Given the description of an element on the screen output the (x, y) to click on. 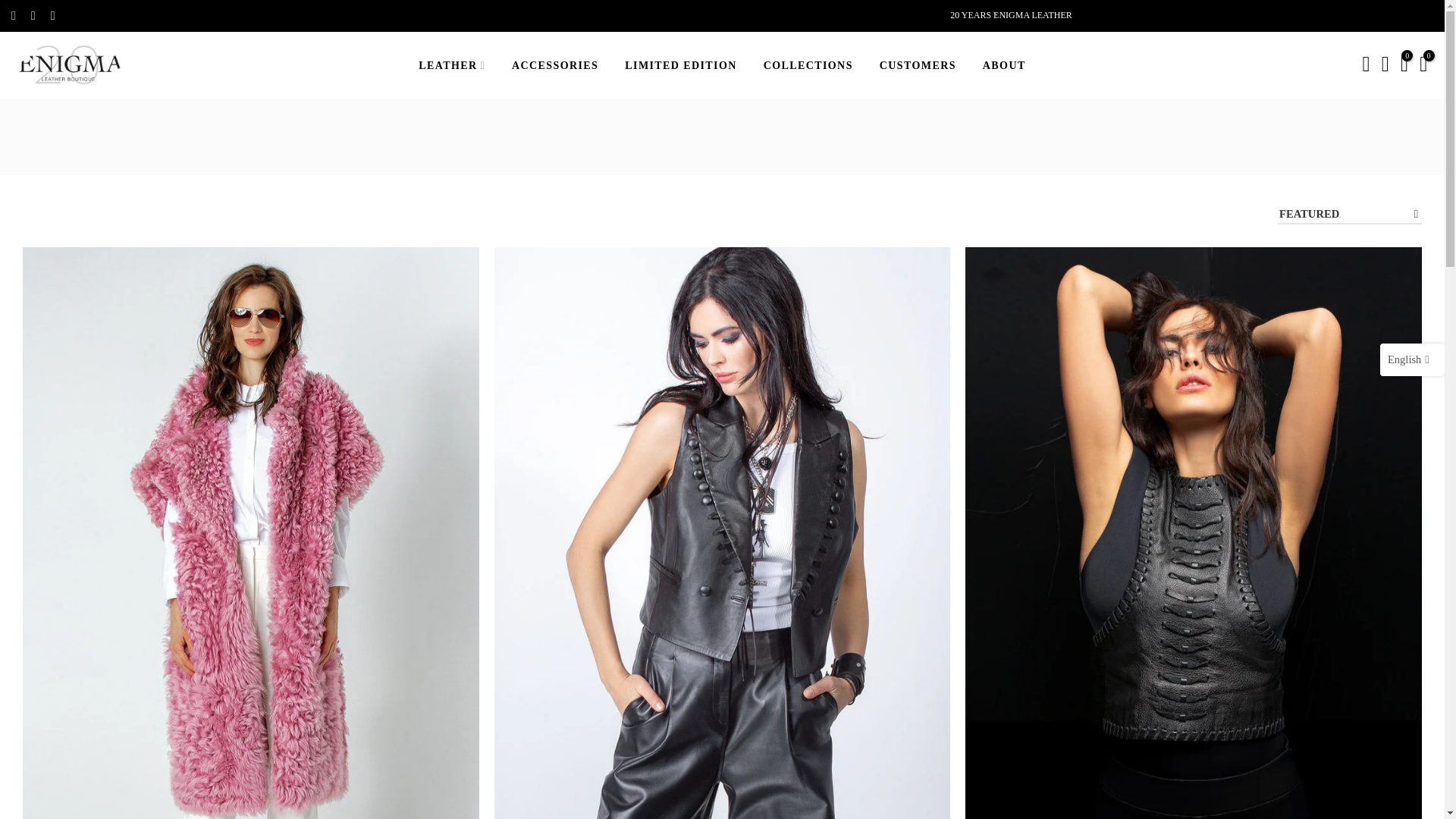
ACCESSORIES (555, 65)
COLLECTIONS (807, 65)
CUSTOMERS (917, 65)
LEATHER (452, 65)
LIMITED EDITION (680, 65)
FEATURED (1350, 214)
ABOUT (1004, 65)
